Given the description of an element on the screen output the (x, y) to click on. 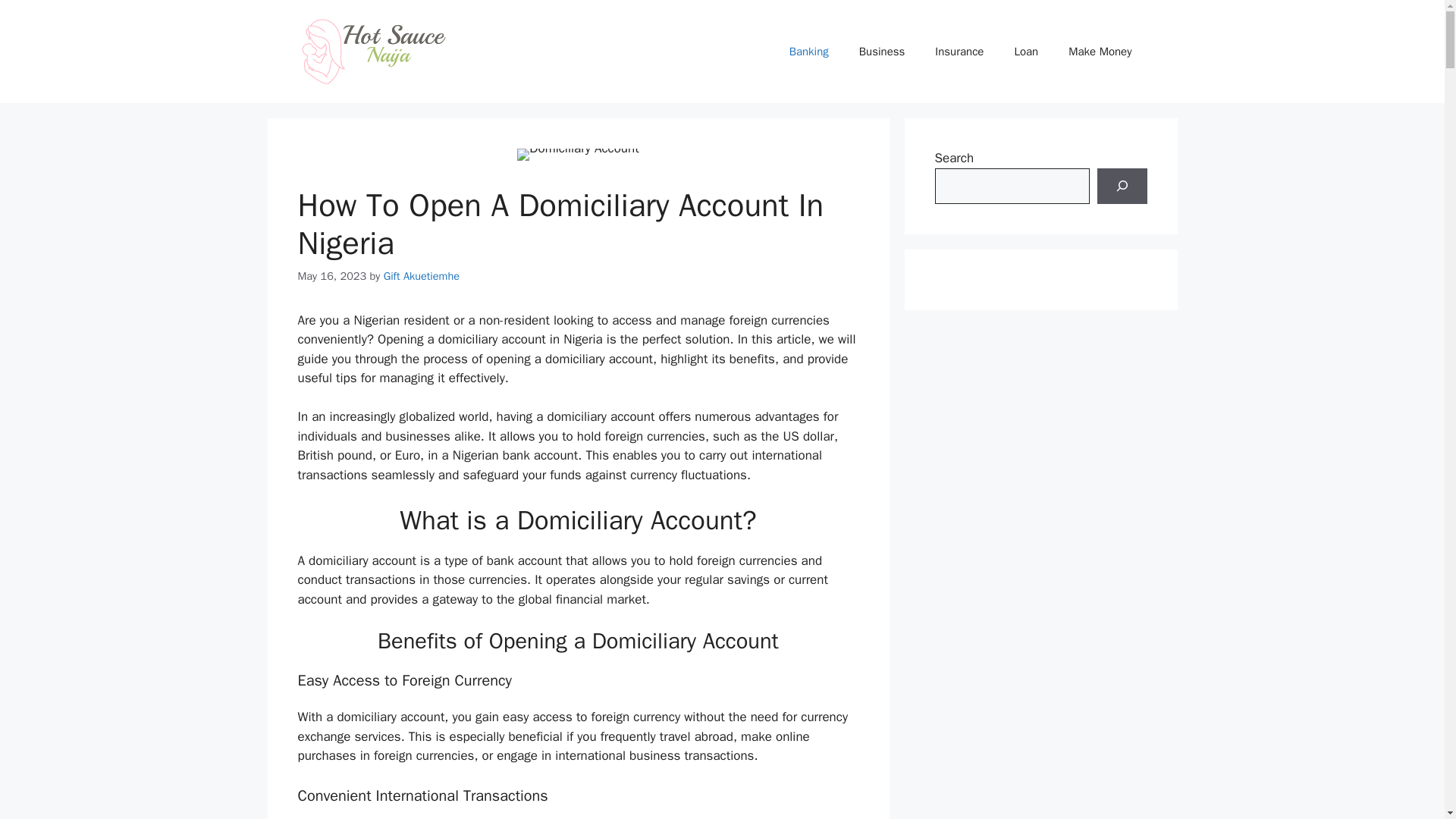
Banking (809, 51)
Insurance (959, 51)
Gift Akuetiemhe (422, 275)
Loan (1025, 51)
Business (882, 51)
View all posts by Gift Akuetiemhe (422, 275)
Make Money (1099, 51)
